Given the description of an element on the screen output the (x, y) to click on. 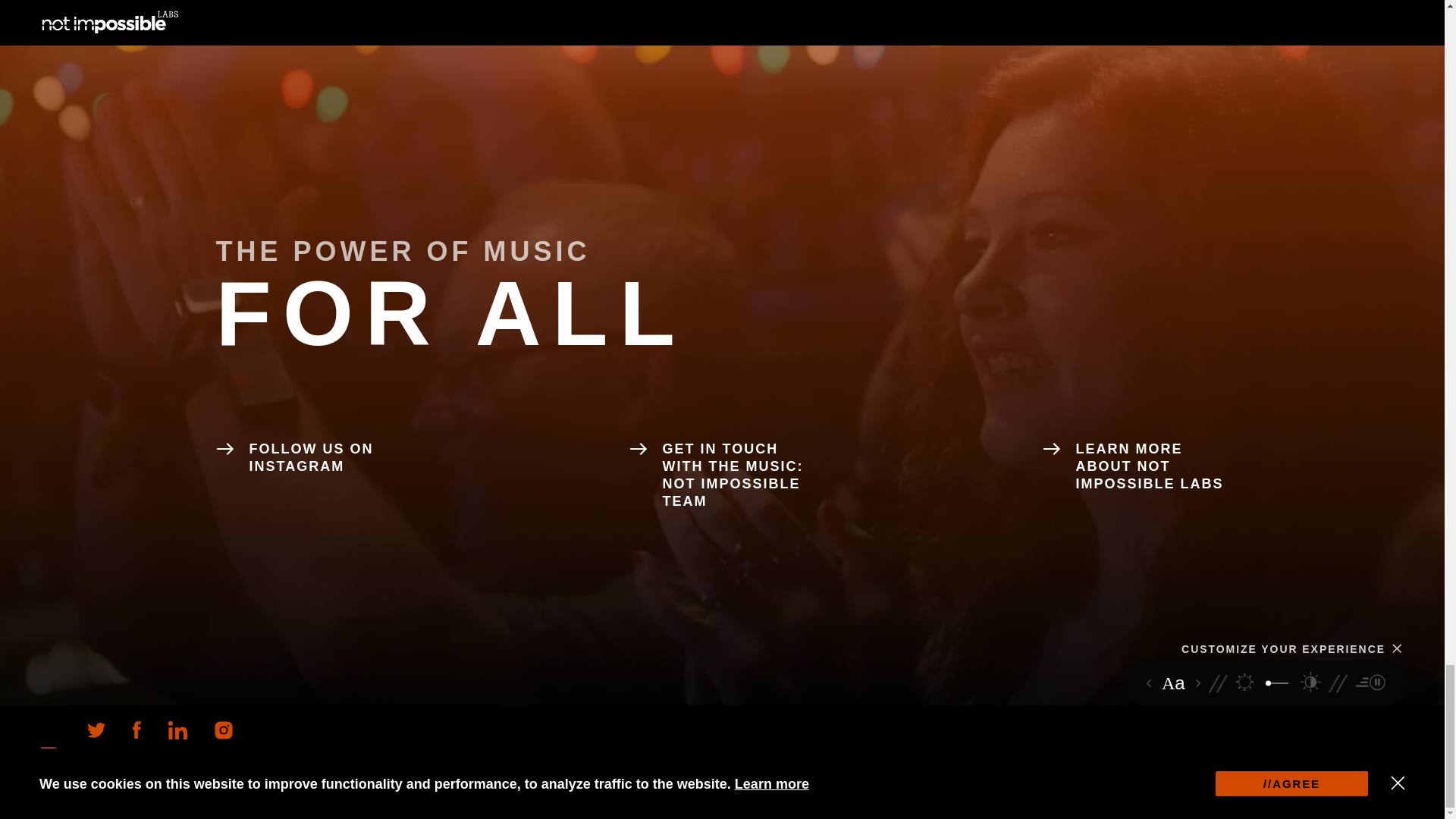
FOLLOW US ON INSTAGRAM (308, 457)
Update cookie terms (247, 809)
Awards Terms and Privacy Policy (141, 809)
GET IN TOUCH WITH THE MUSIC: NOT IMPOSSIBLE TEAM (721, 475)
LEARN MORE ABOUT NOT IMPOSSIBLE LABS (1135, 466)
